Given the description of an element on the screen output the (x, y) to click on. 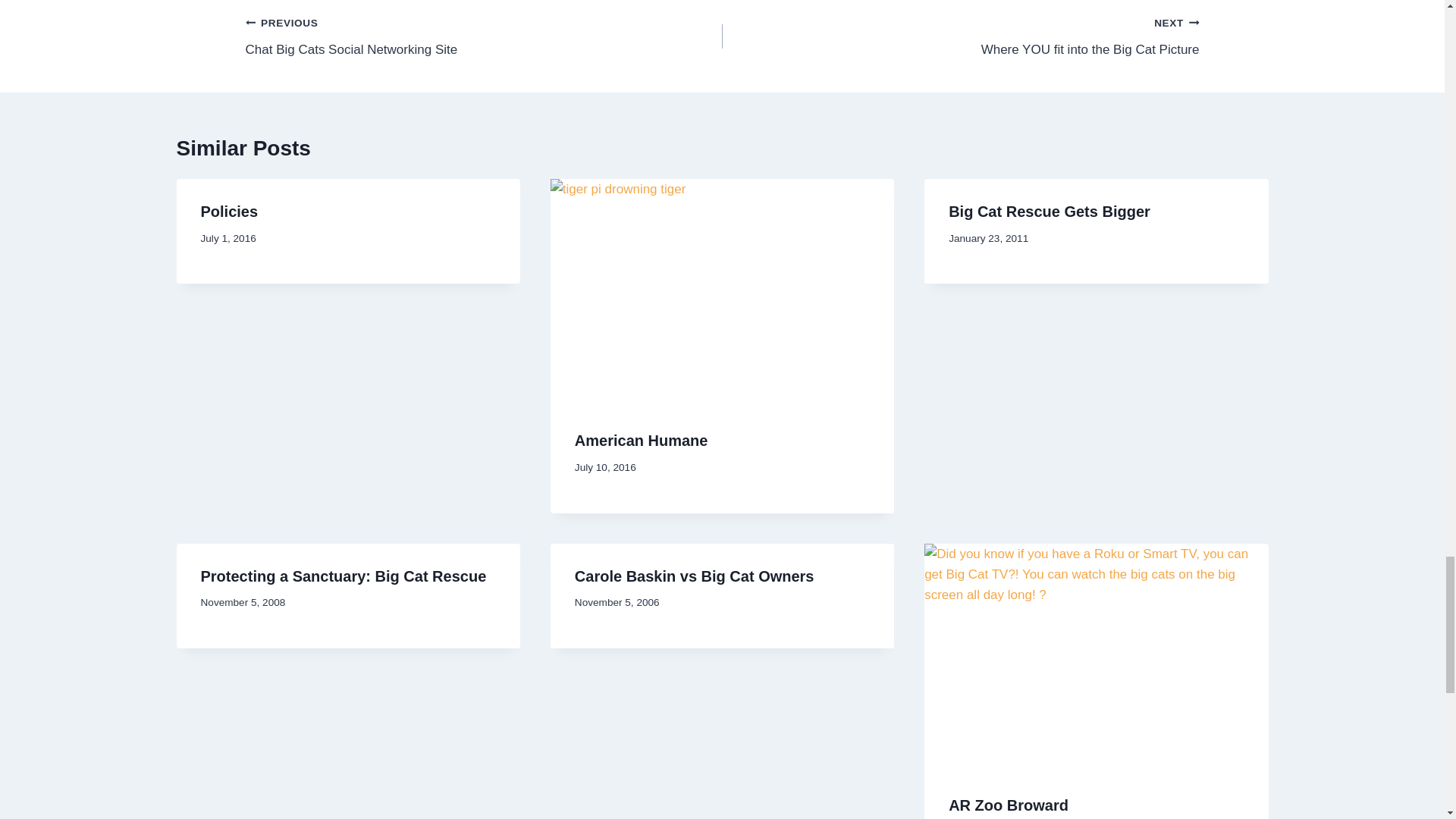
AR Zoo Broward (484, 35)
American Humane (1008, 805)
Policies (960, 35)
Big Cat Rescue Gets Bigger (641, 440)
Carole Baskin vs Big Cat Owners (228, 211)
Protecting a Sanctuary: Big Cat Rescue (1049, 211)
